Given the description of an element on the screen output the (x, y) to click on. 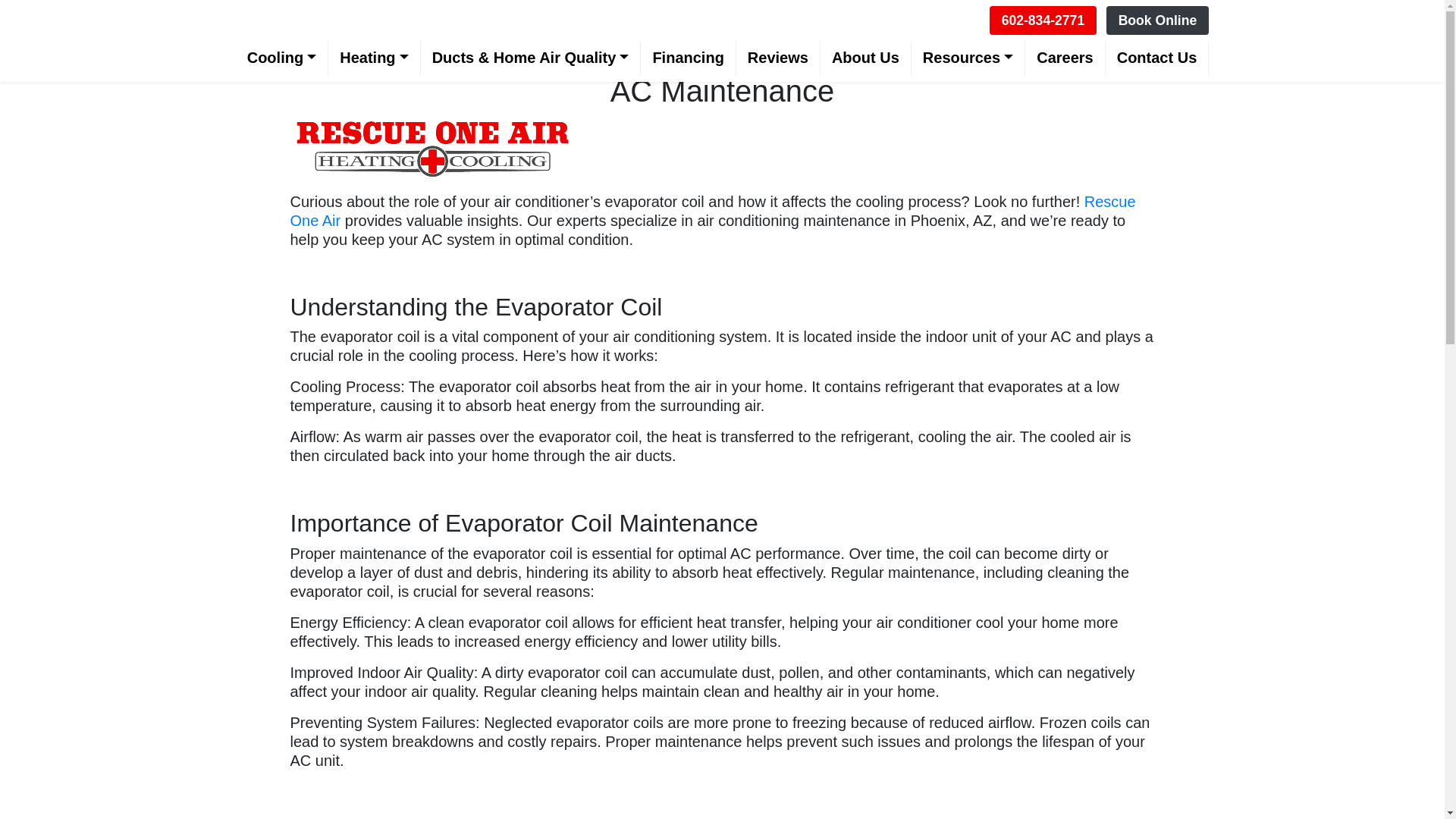
Rescue One Air (712, 211)
602-834-2771 (1043, 19)
Contact Us (1157, 58)
Heating (374, 58)
Reviews (778, 58)
Book Online (1157, 19)
Financing (687, 58)
Careers (1065, 58)
About Us (866, 58)
Cooling (282, 58)
